Given the description of an element on the screen output the (x, y) to click on. 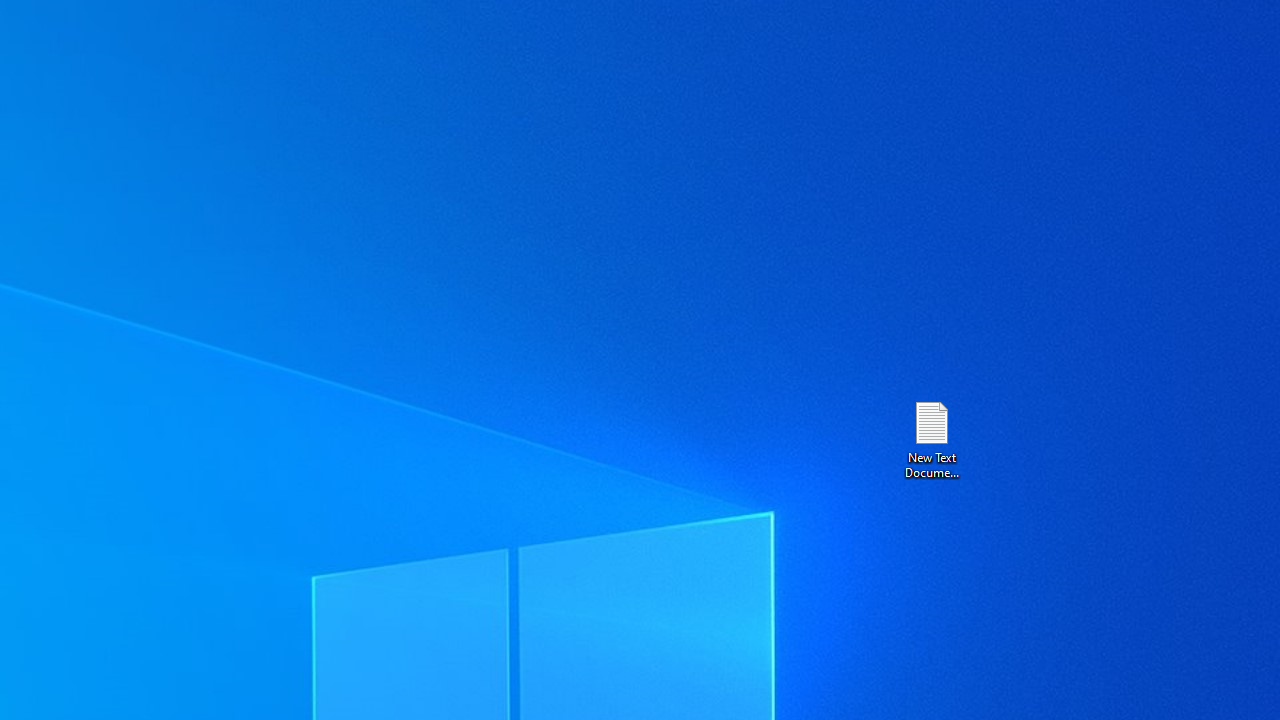
New Text Document (2) (931, 438)
